Given the description of an element on the screen output the (x, y) to click on. 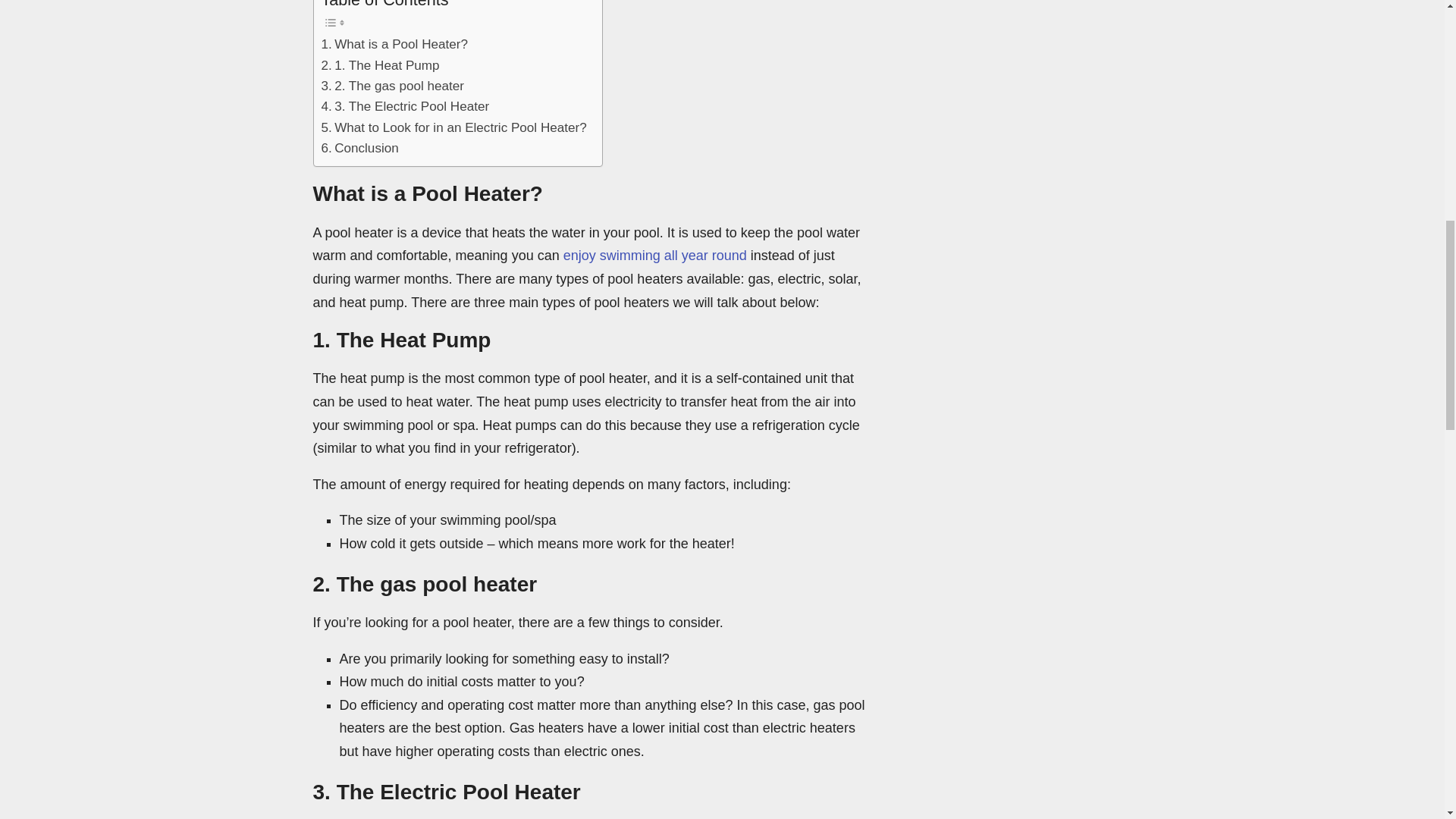
2. The gas pool heater (392, 86)
enjoy swimming all year round (654, 255)
What is a Pool Heater? (394, 44)
3. The Electric Pool Heater (405, 106)
1. The Heat Pump (380, 65)
What to Look for in an Electric Pool Heater? (453, 127)
What to Look for in an Electric Pool Heater? (453, 127)
Conclusion (359, 148)
Conclusion (359, 148)
2. The gas pool heater (392, 86)
1. The Heat Pump (380, 65)
3. The Electric Pool Heater (405, 106)
What is a Pool Heater? (394, 44)
